Given the description of an element on the screen output the (x, y) to click on. 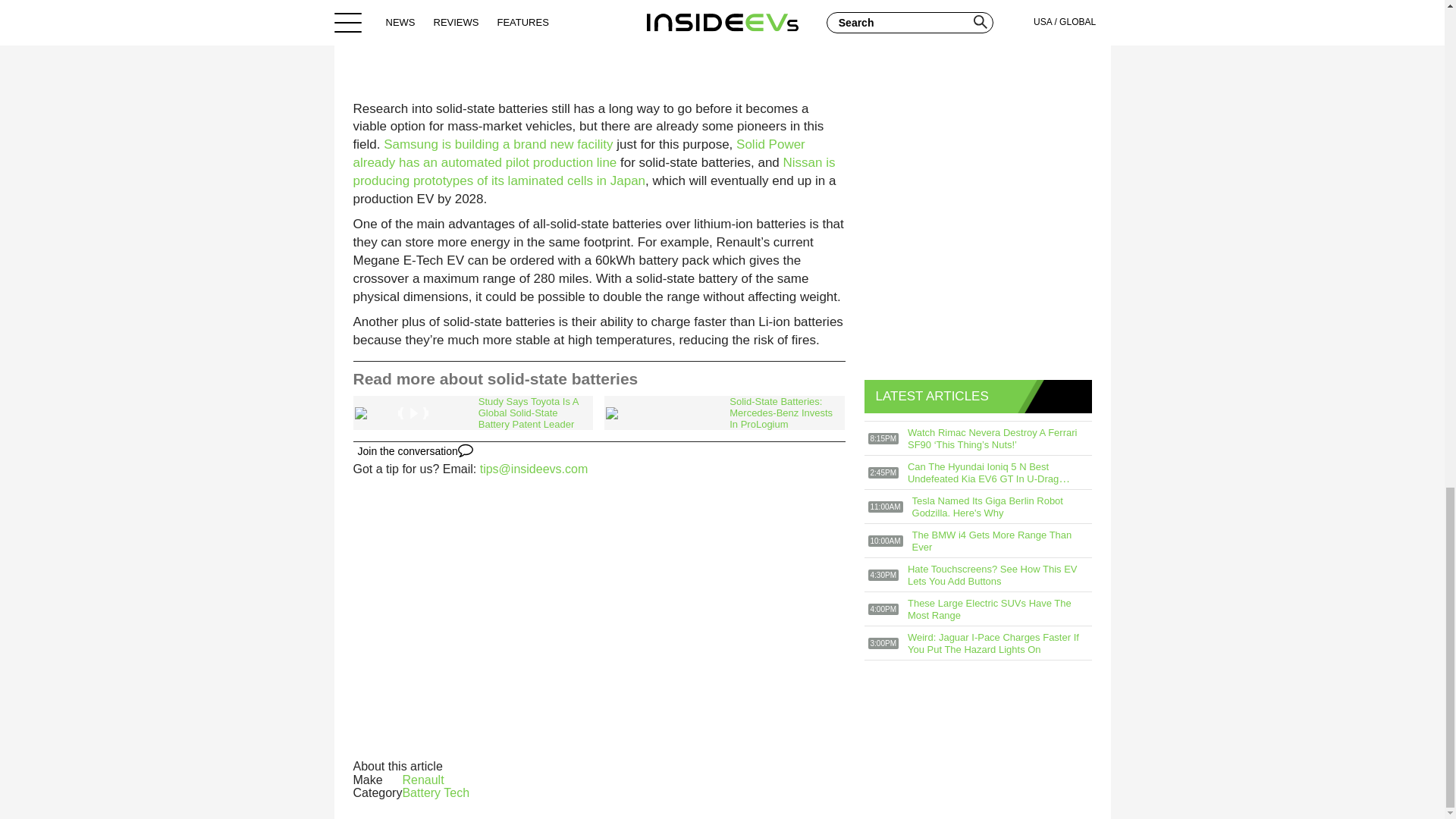
Samsung is building a brand new facility (498, 144)
Join the conversation (415, 451)
Solid-State Batteries: Mercedes-Benz Invests In ProLogium (724, 412)
Solid Power already has an automated pilot production line (579, 153)
